Given the description of an element on the screen output the (x, y) to click on. 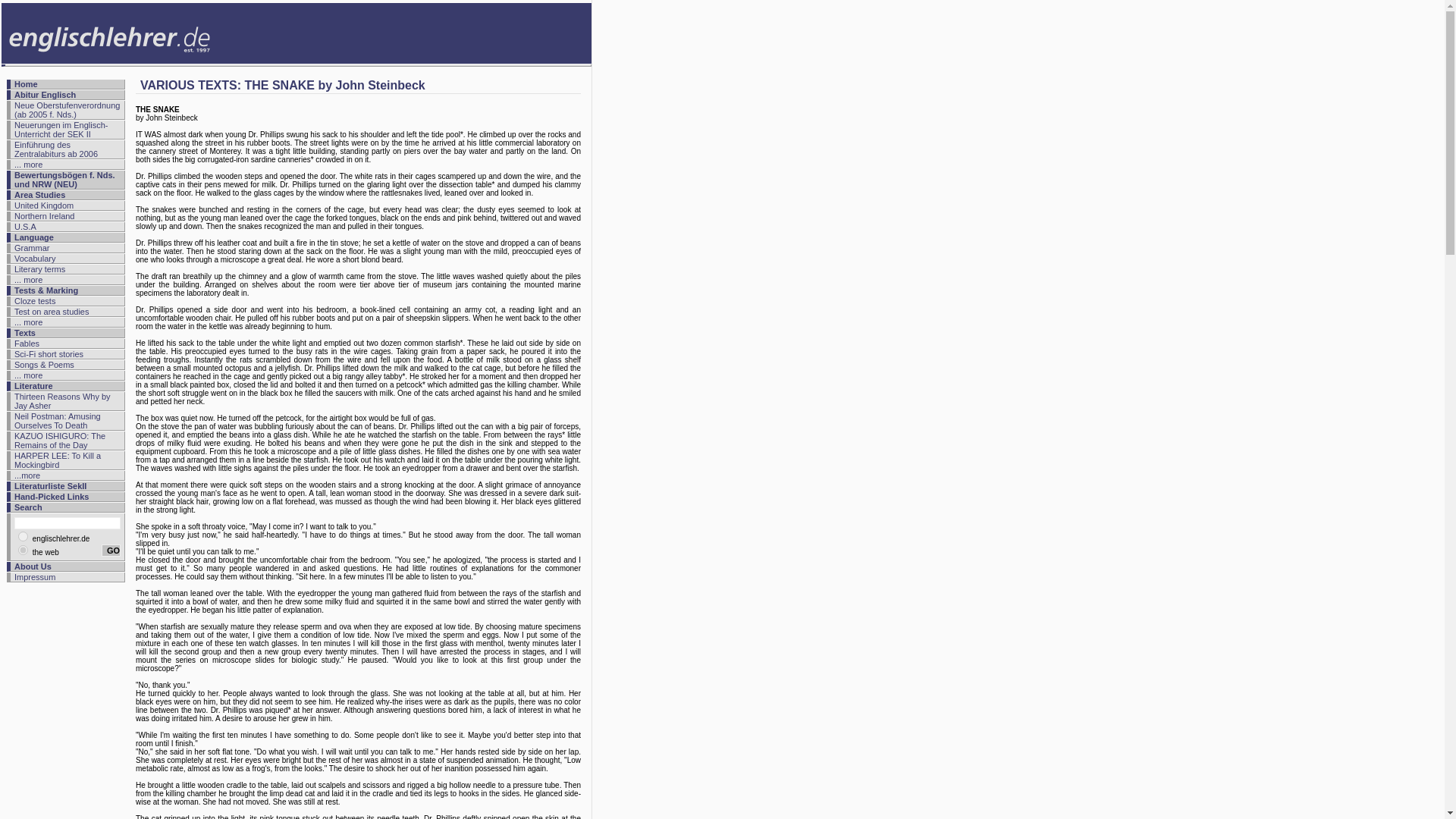
Grammar (31, 247)
Area Studies (39, 194)
Search (28, 506)
Neil Postman: Amusing Ourselves To Death (57, 420)
GO (110, 550)
United Kingdom (44, 204)
Northern Ireland (44, 215)
ase (22, 550)
Literary terms (39, 268)
... more (28, 321)
Sci-Fi short stories (48, 353)
... more (28, 163)
About Us (32, 565)
HARPER LEE: To Kill a Mockingbird (57, 460)
Language (33, 236)
